Given the description of an element on the screen output the (x, y) to click on. 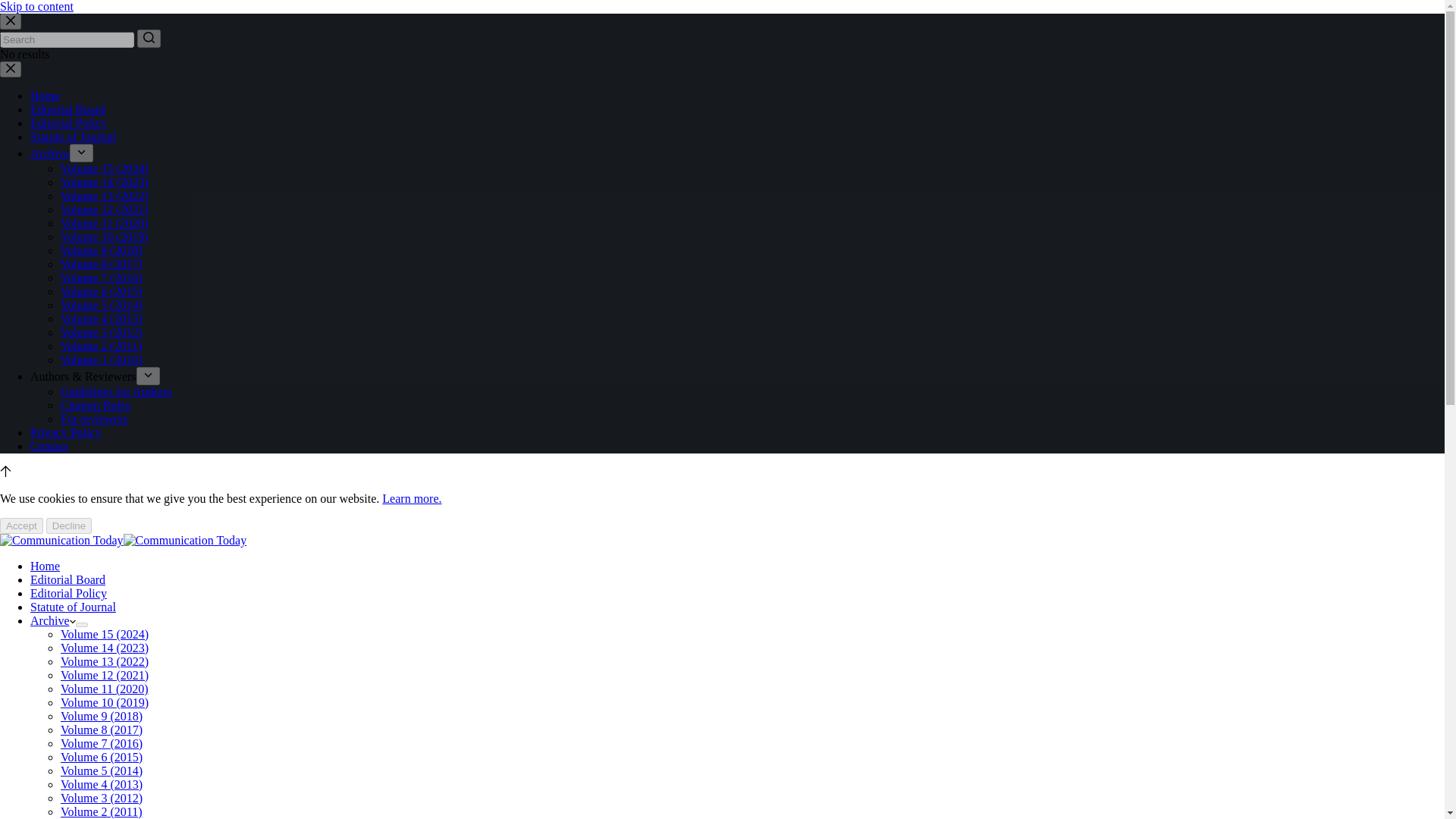
Learn more. (411, 498)
Citation Rules (96, 404)
Accept (21, 525)
Editorial Board (67, 109)
Guidelines for Authors (116, 391)
Statute of Journal (73, 136)
Contact (49, 445)
Privacy Policy (65, 431)
Skip to content (37, 6)
Editorial Policy (68, 123)
Editorial Policy (68, 593)
Home (44, 565)
Archive (49, 153)
For reviewers (94, 418)
Decline (68, 525)
